Given the description of an element on the screen output the (x, y) to click on. 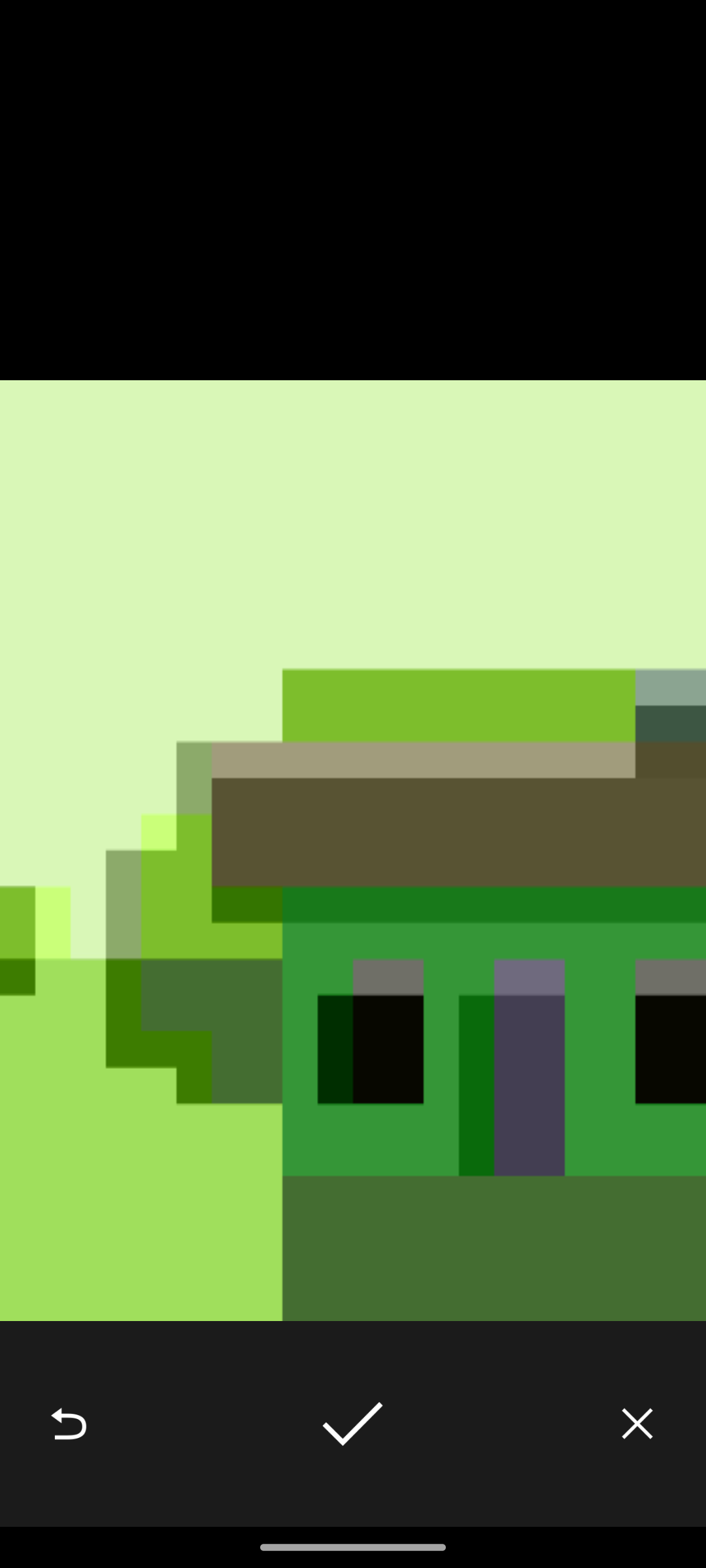
Done (352, 1423)
Retake (68, 1423)
Cancel (637, 1423)
